Given the description of an element on the screen output the (x, y) to click on. 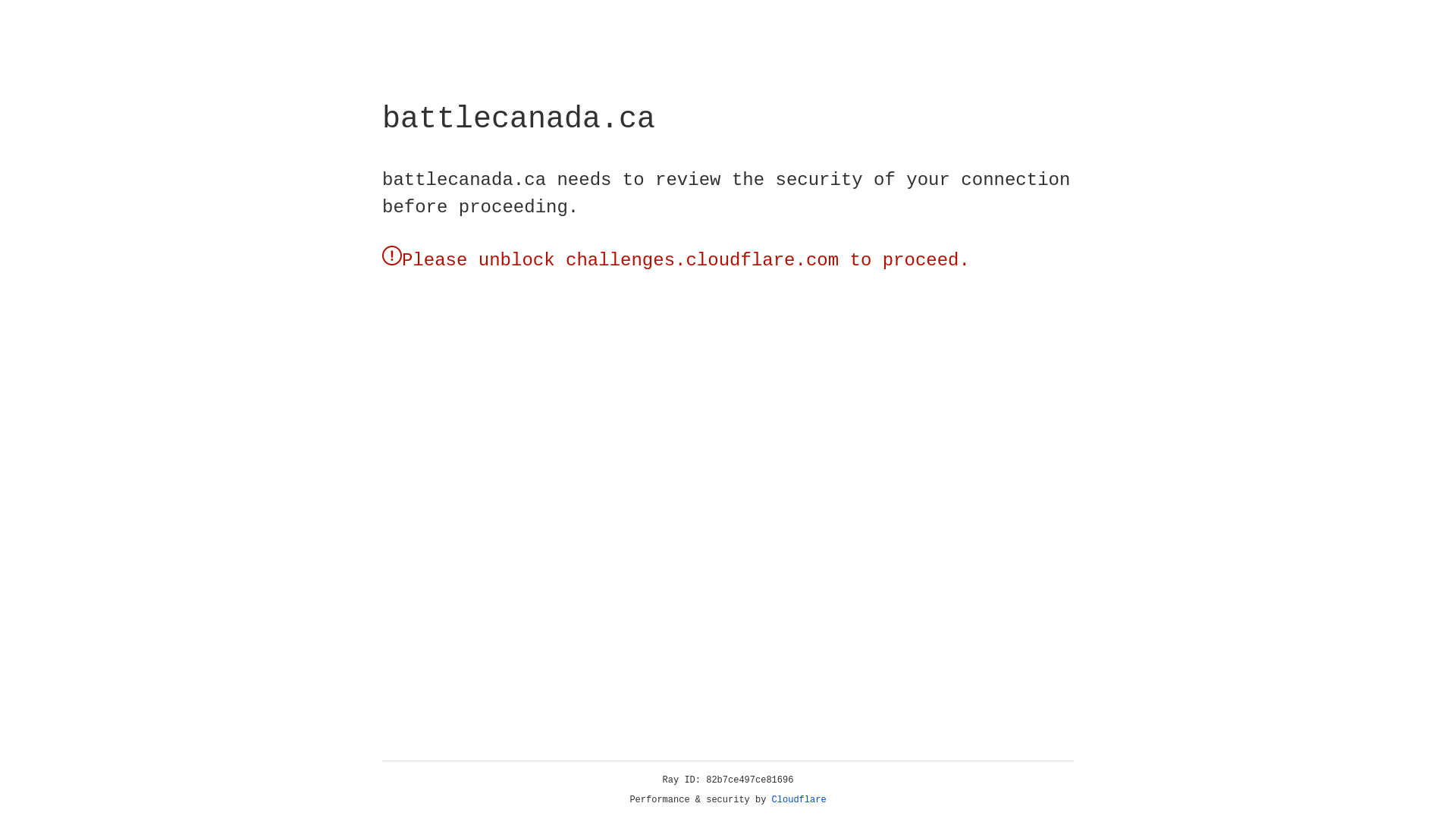
Cloudflare Element type: text (798, 799)
